Given the description of an element on the screen output the (x, y) to click on. 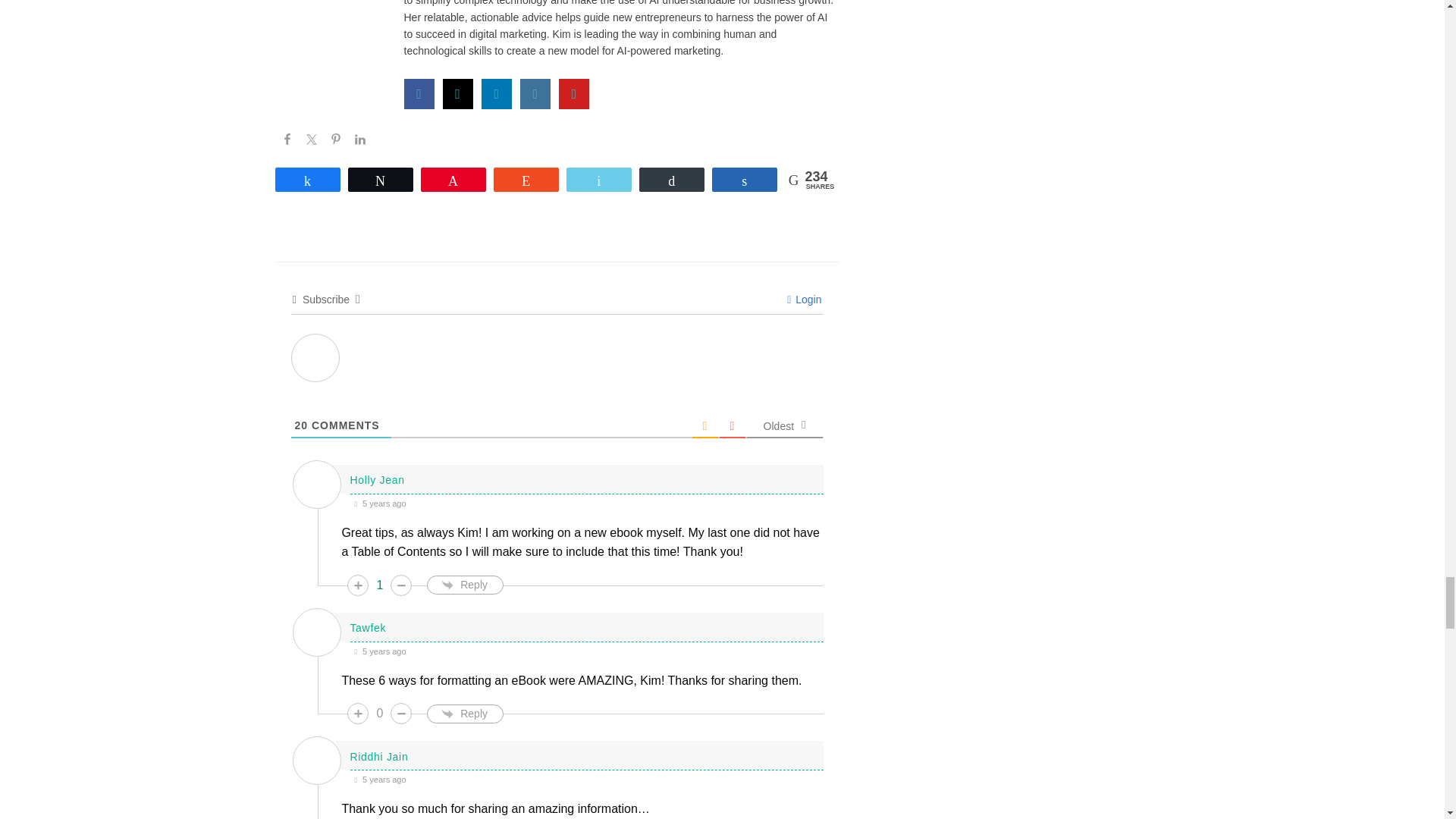
Share on LinkedIn (359, 139)
Share on Facebook (286, 139)
Share on Pinterest (335, 139)
Share on Twitter (310, 139)
